Given the description of an element on the screen output the (x, y) to click on. 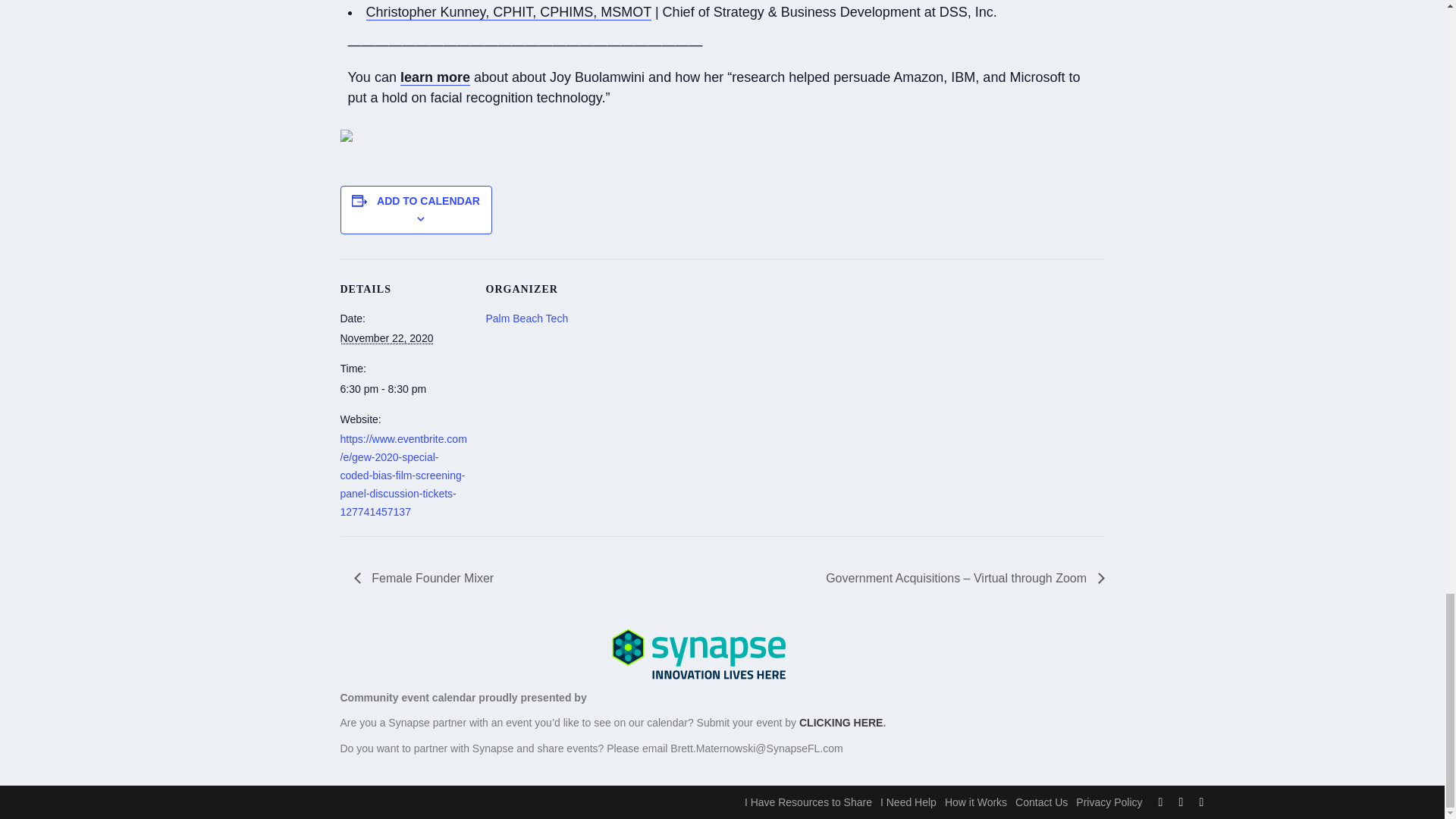
ADD TO CALENDAR (428, 200)
2020-11-22 (403, 389)
learn more (435, 77)
2020-11-22 (385, 337)
Palm Beach Tech (525, 318)
Christopher Kunney, CPHIT, CPHIMS, MSMOT (507, 12)
